Given the description of an element on the screen output the (x, y) to click on. 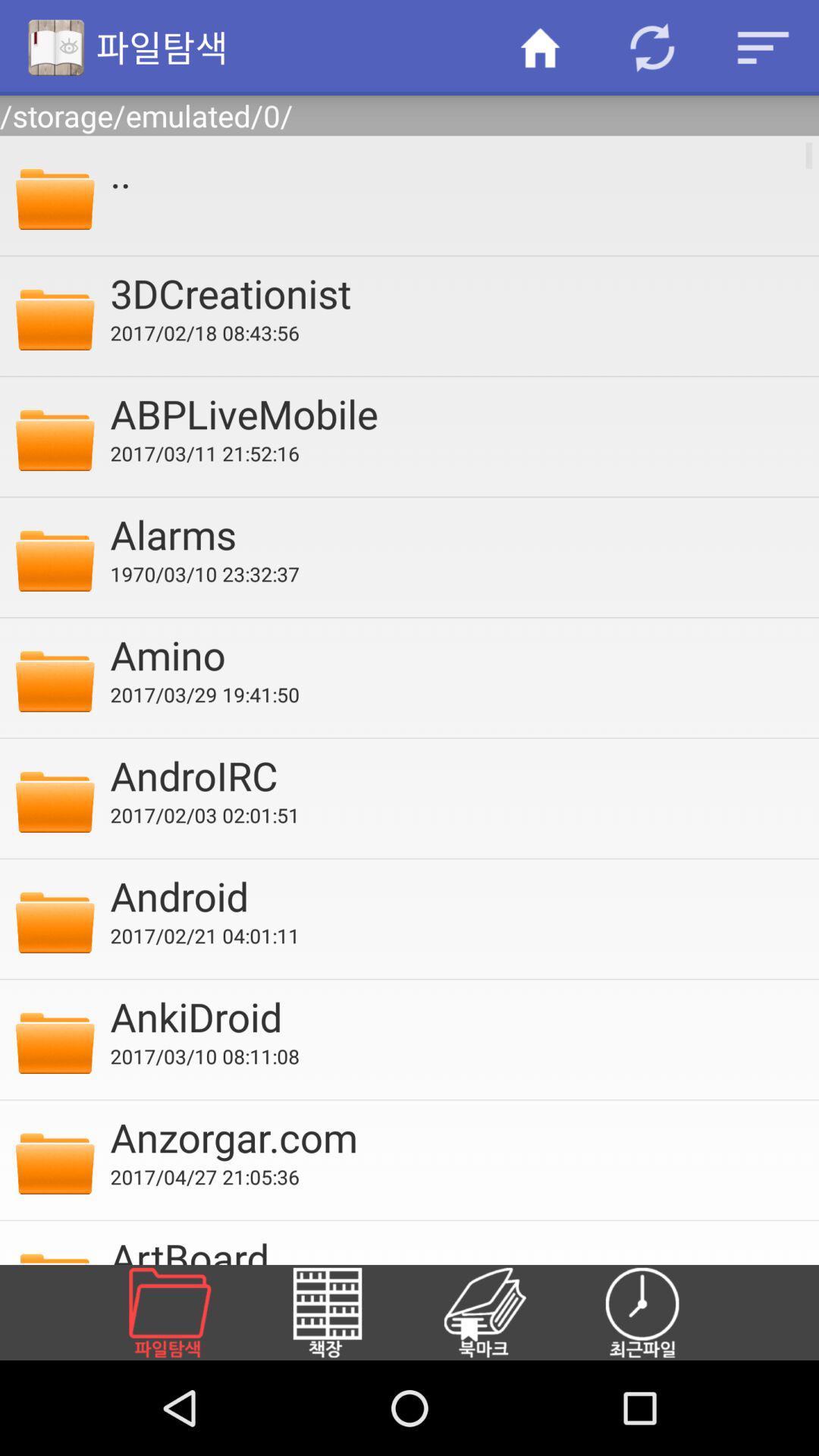
go to bookmarks (502, 1312)
